Given the description of an element on the screen output the (x, y) to click on. 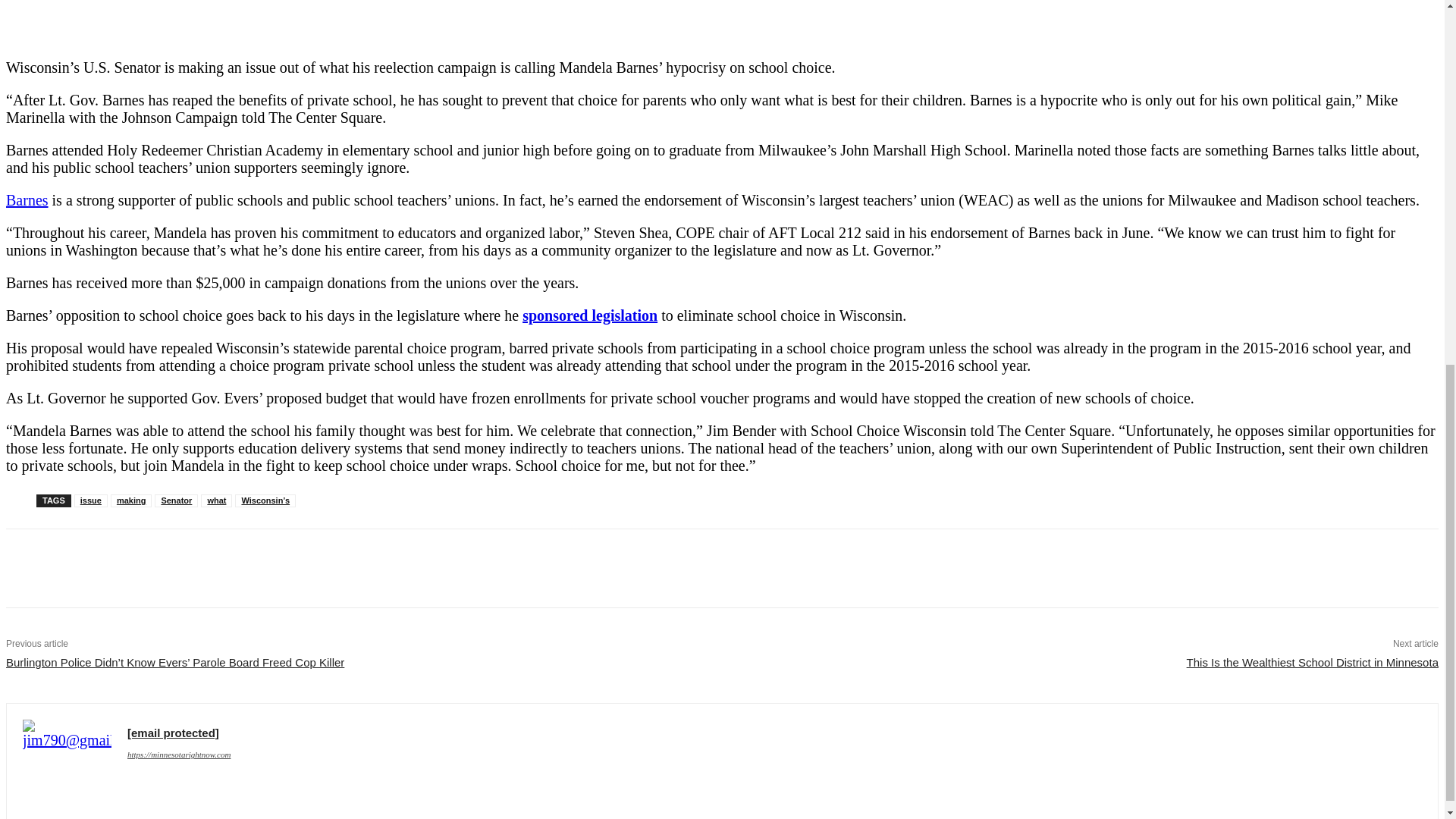
what (215, 500)
Barnes (26, 199)
issue (90, 500)
making (131, 500)
sponsored legislation (590, 315)
Senator (176, 500)
